Given the description of an element on the screen output the (x, y) to click on. 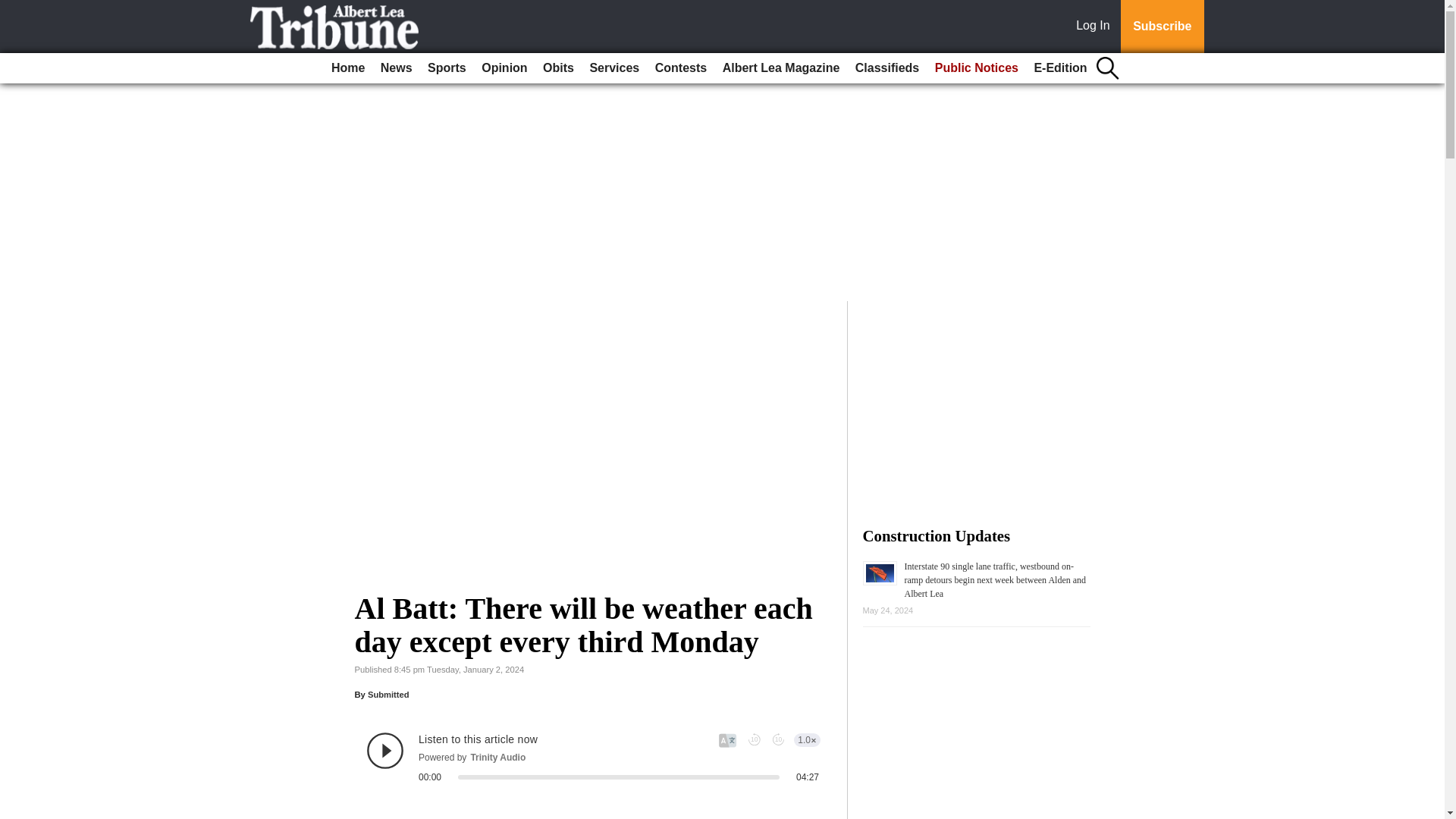
Subscribe (1162, 26)
Obits (558, 68)
Log In (1095, 26)
Opinion (504, 68)
News (396, 68)
Home (347, 68)
Services (614, 68)
Trinity Audio Player (592, 757)
Sports (446, 68)
